Given the description of an element on the screen output the (x, y) to click on. 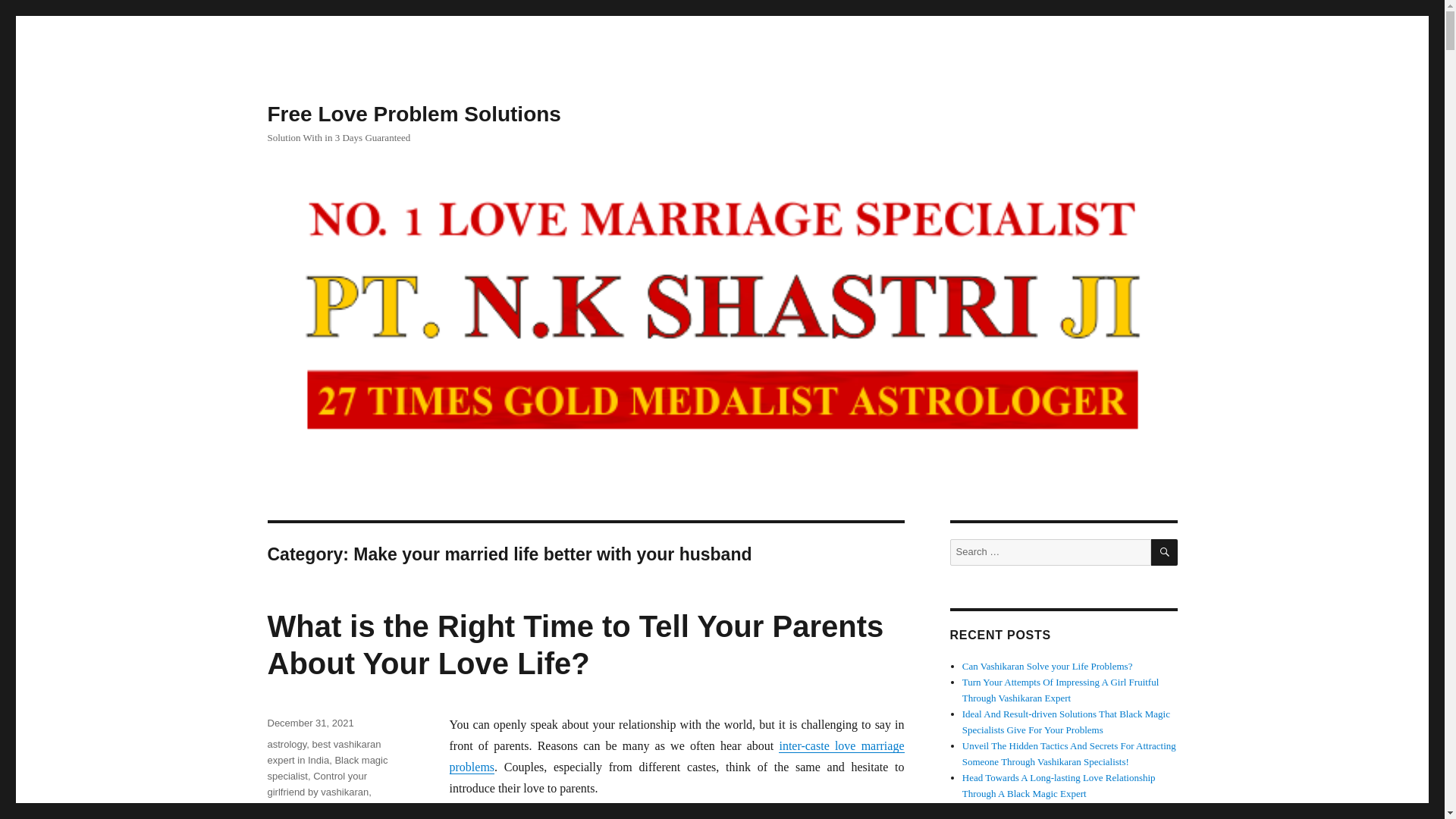
Free Love Problem Solutions (413, 114)
Girl vashikaran specialist (332, 810)
astrology (285, 744)
Black magic specialist (326, 768)
December 31, 2021 (309, 722)
inter-caste love marriage problems (676, 756)
Divorce Problem Solution (322, 808)
best vashikaran expert in India (323, 751)
